Given the description of an element on the screen output the (x, y) to click on. 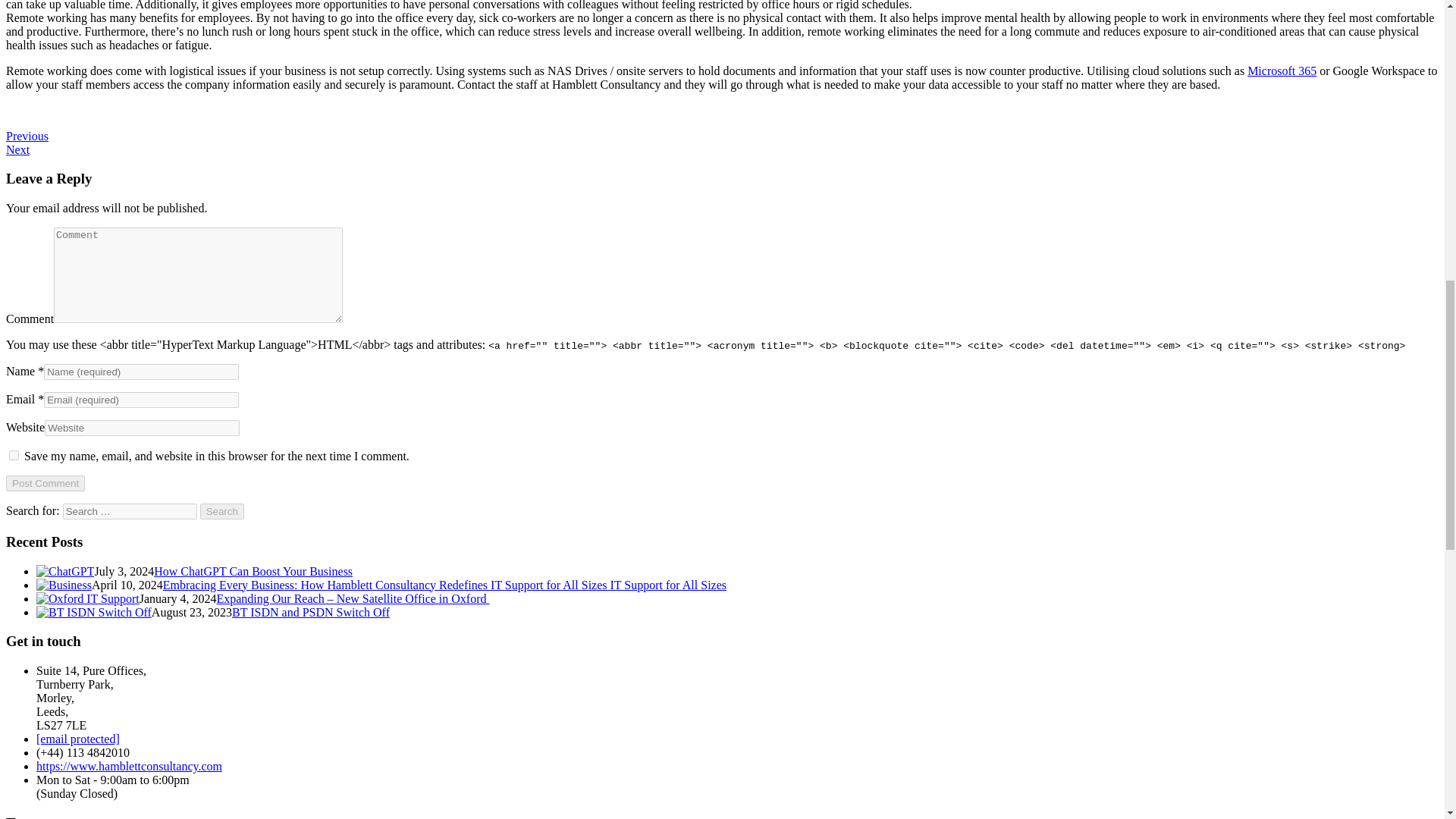
yes (13, 455)
Microsoft 365 (1281, 70)
Previous (26, 135)
Post Comment (44, 483)
Next (17, 149)
Post Comment (44, 483)
Search (222, 511)
Search (222, 511)
